Given the description of an element on the screen output the (x, y) to click on. 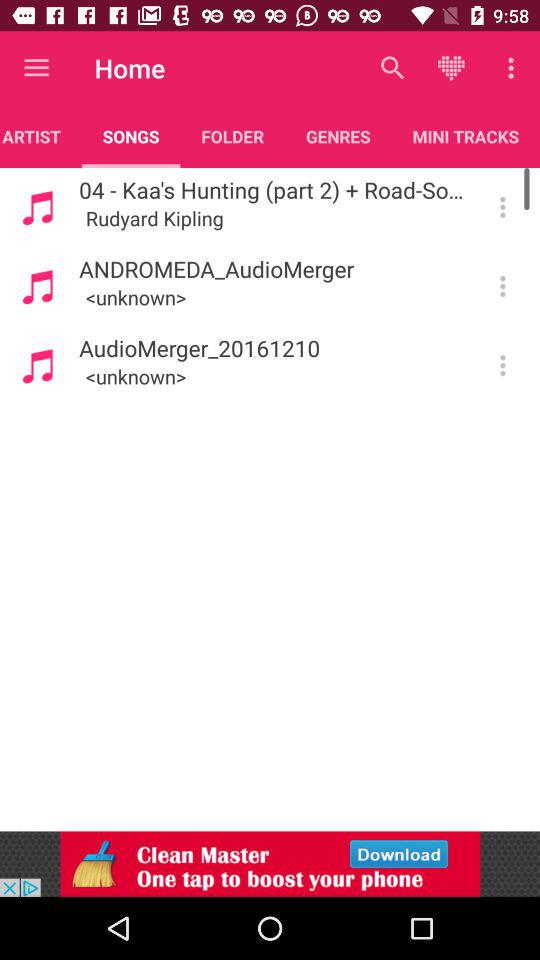
more options (502, 207)
